Given the description of an element on the screen output the (x, y) to click on. 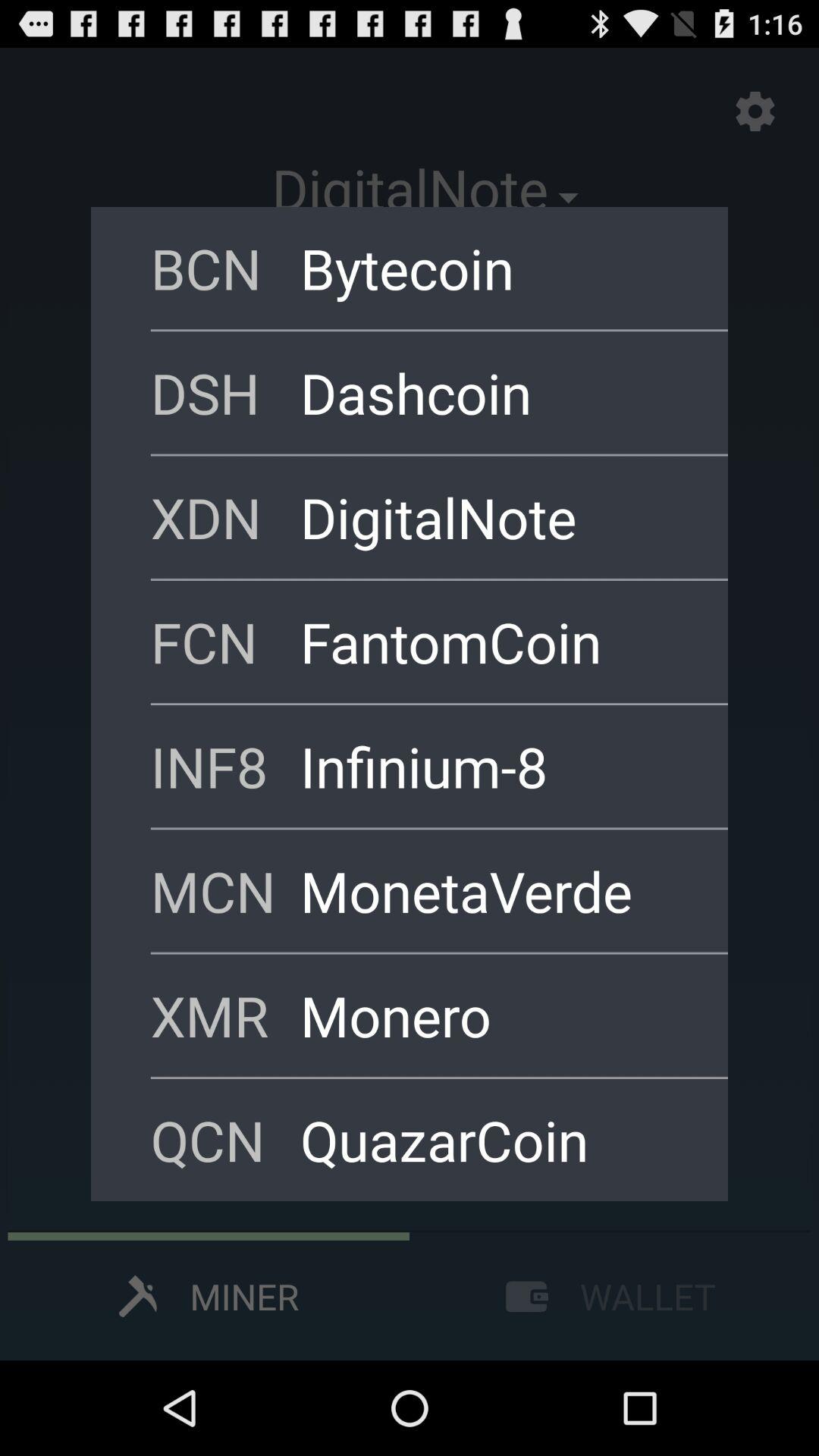
choose the dashcoin icon (494, 392)
